Given the description of an element on the screen output the (x, y) to click on. 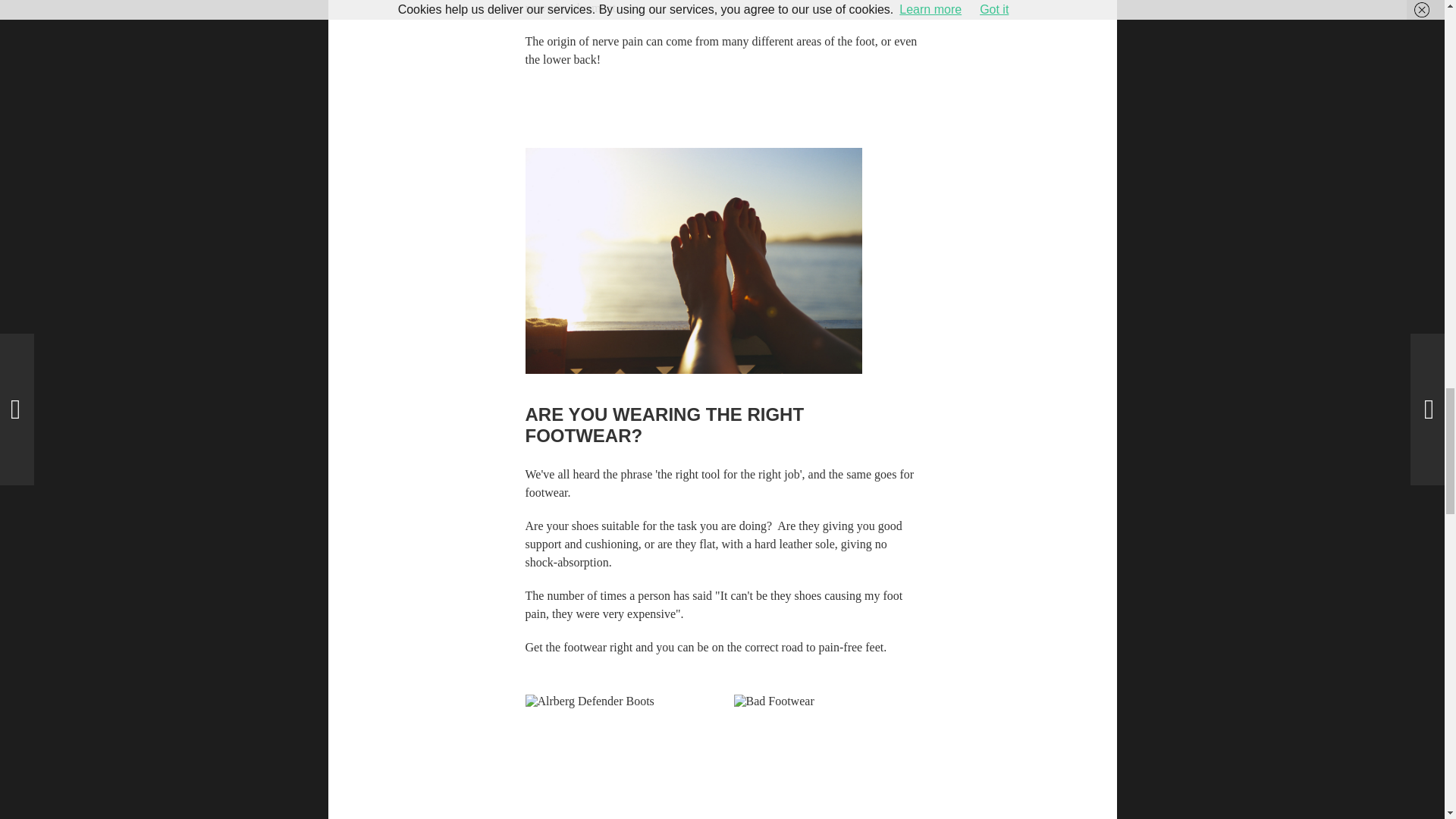
High Heels cause bad posture, and increased foot pressure. (826, 756)
Elevated Feet (692, 260)
Good footwear for support (617, 746)
